Given the description of an element on the screen output the (x, y) to click on. 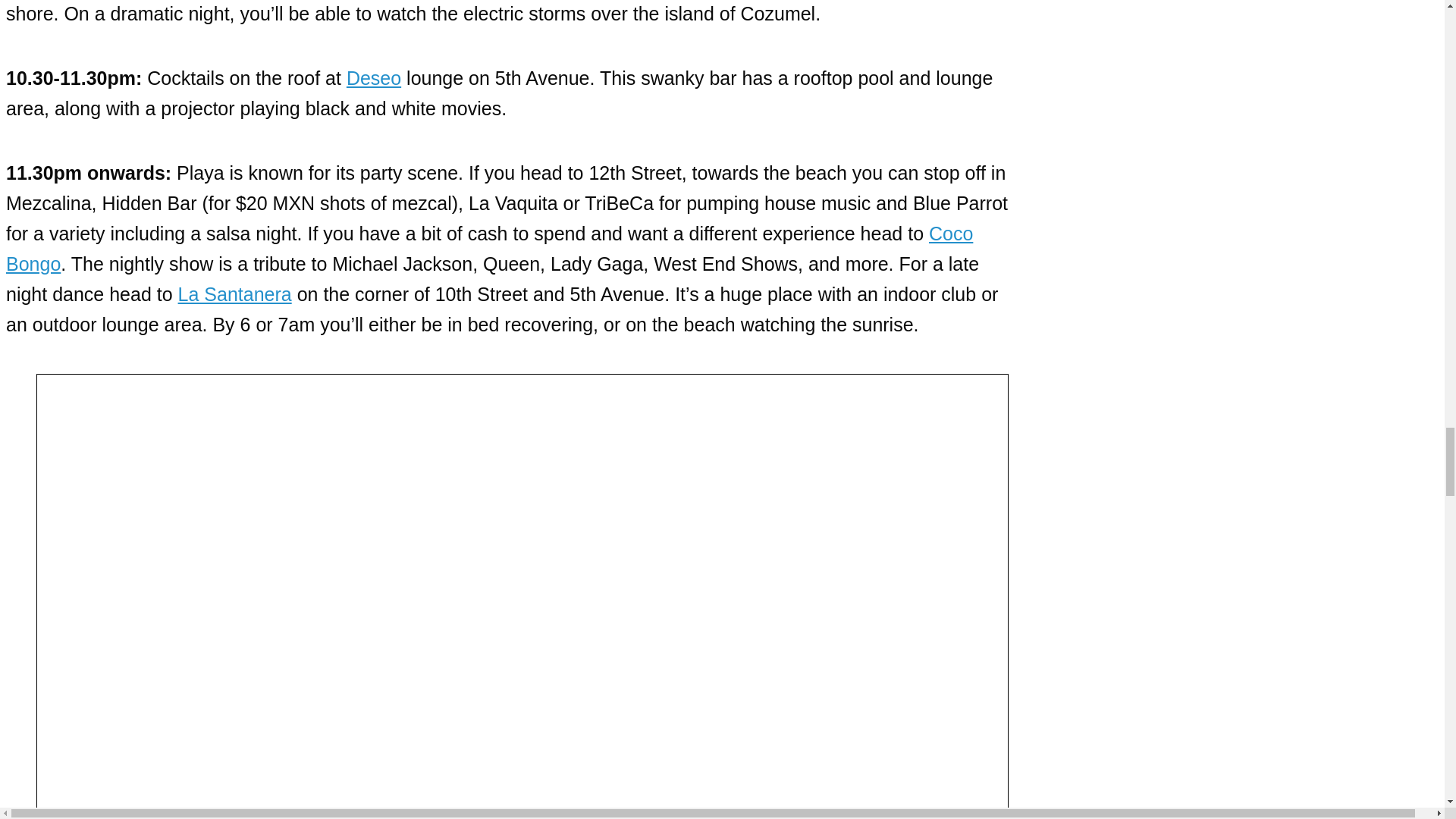
La Santanera (234, 293)
Coco Bongo (488, 248)
Deseo (373, 77)
